Given the description of an element on the screen output the (x, y) to click on. 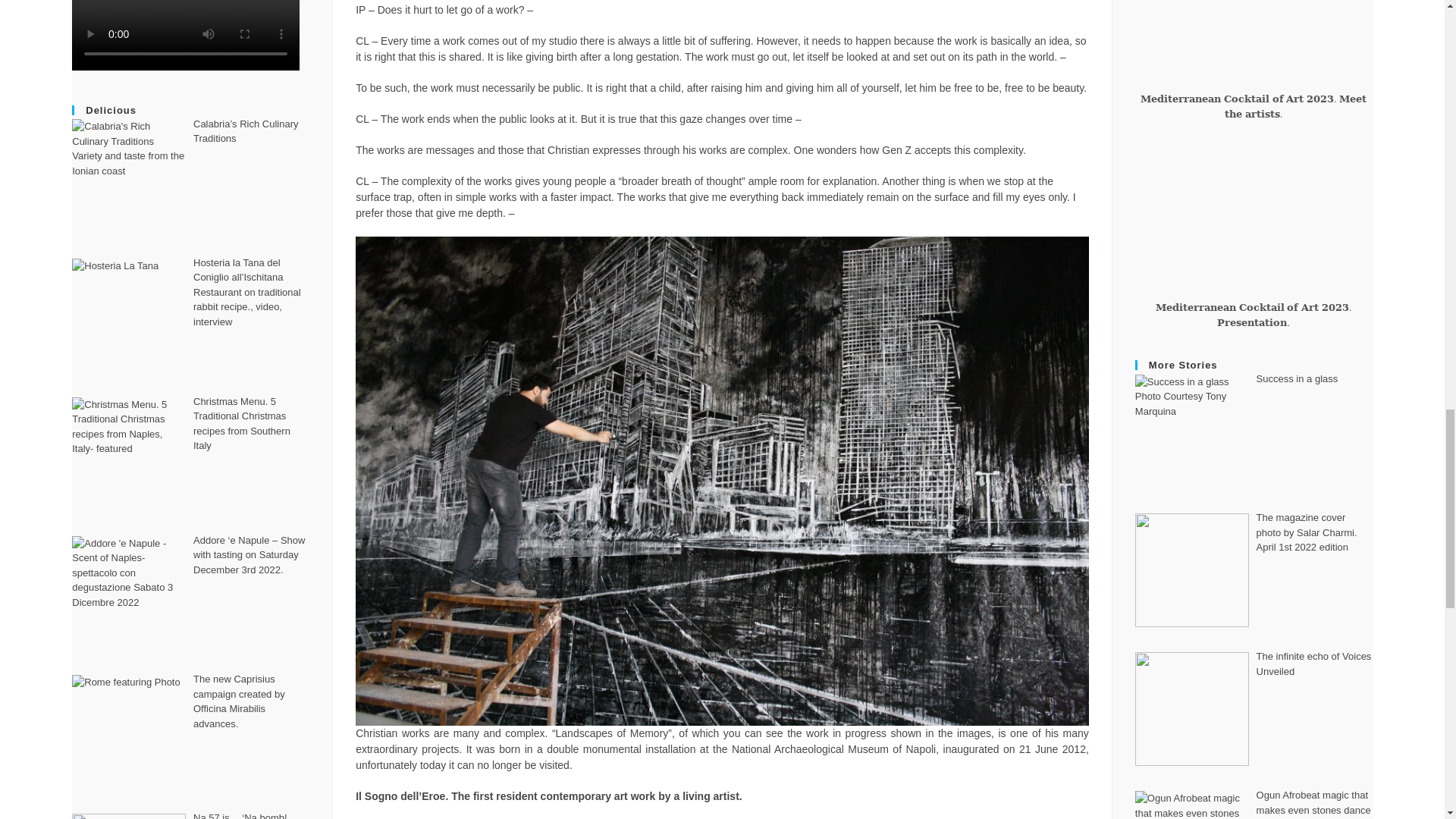
NapulitanaMente (1254, 38)
NapulitanaMente (1254, 218)
